Given the description of an element on the screen output the (x, y) to click on. 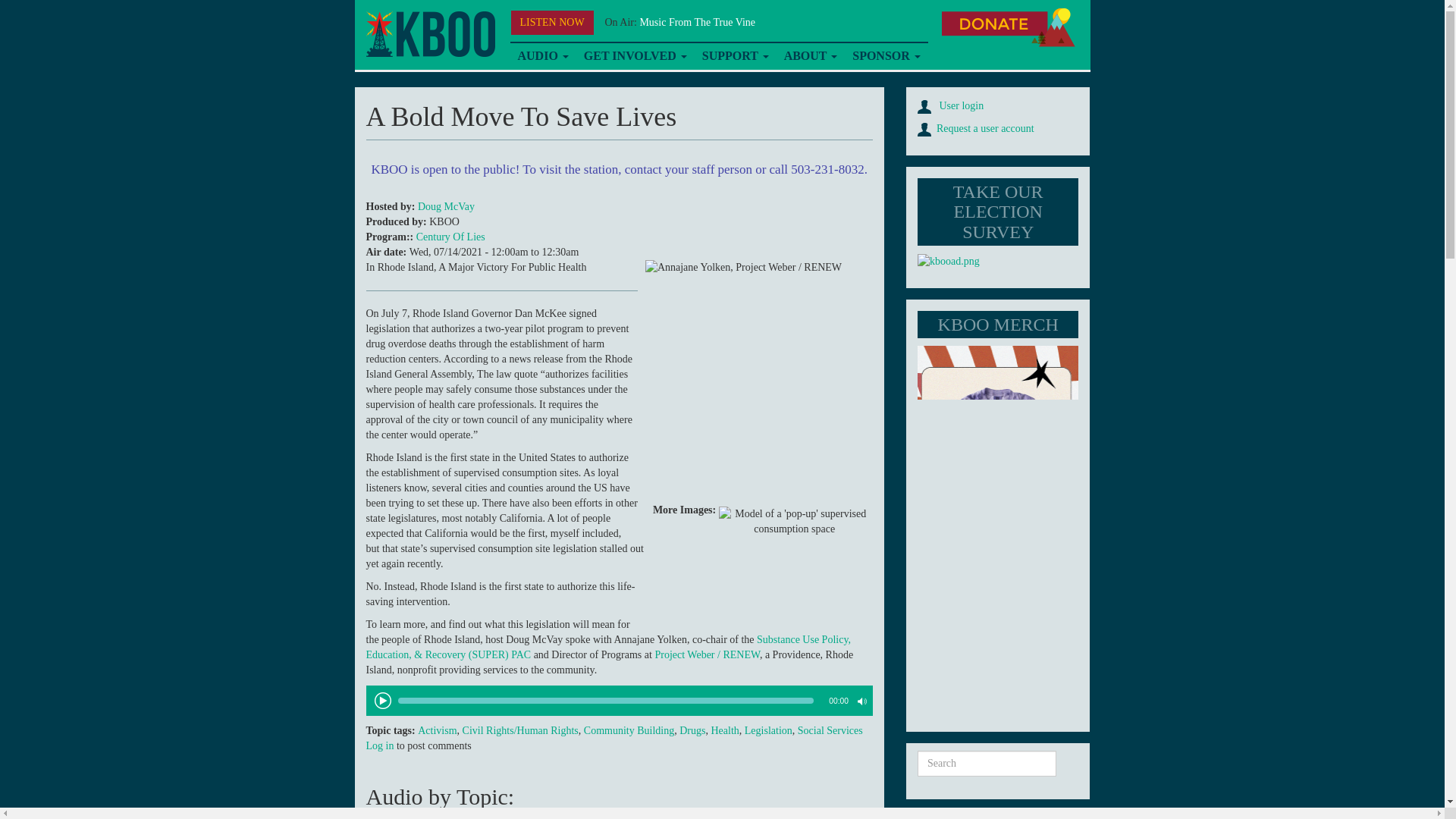
SUPPORT (735, 55)
AUDIO (542, 55)
LISTEN NOW (551, 22)
GET INVOLVED (635, 55)
ABOUT (810, 55)
Home (430, 34)
Music From The True Vine (697, 21)
